Given the description of an element on the screen output the (x, y) to click on. 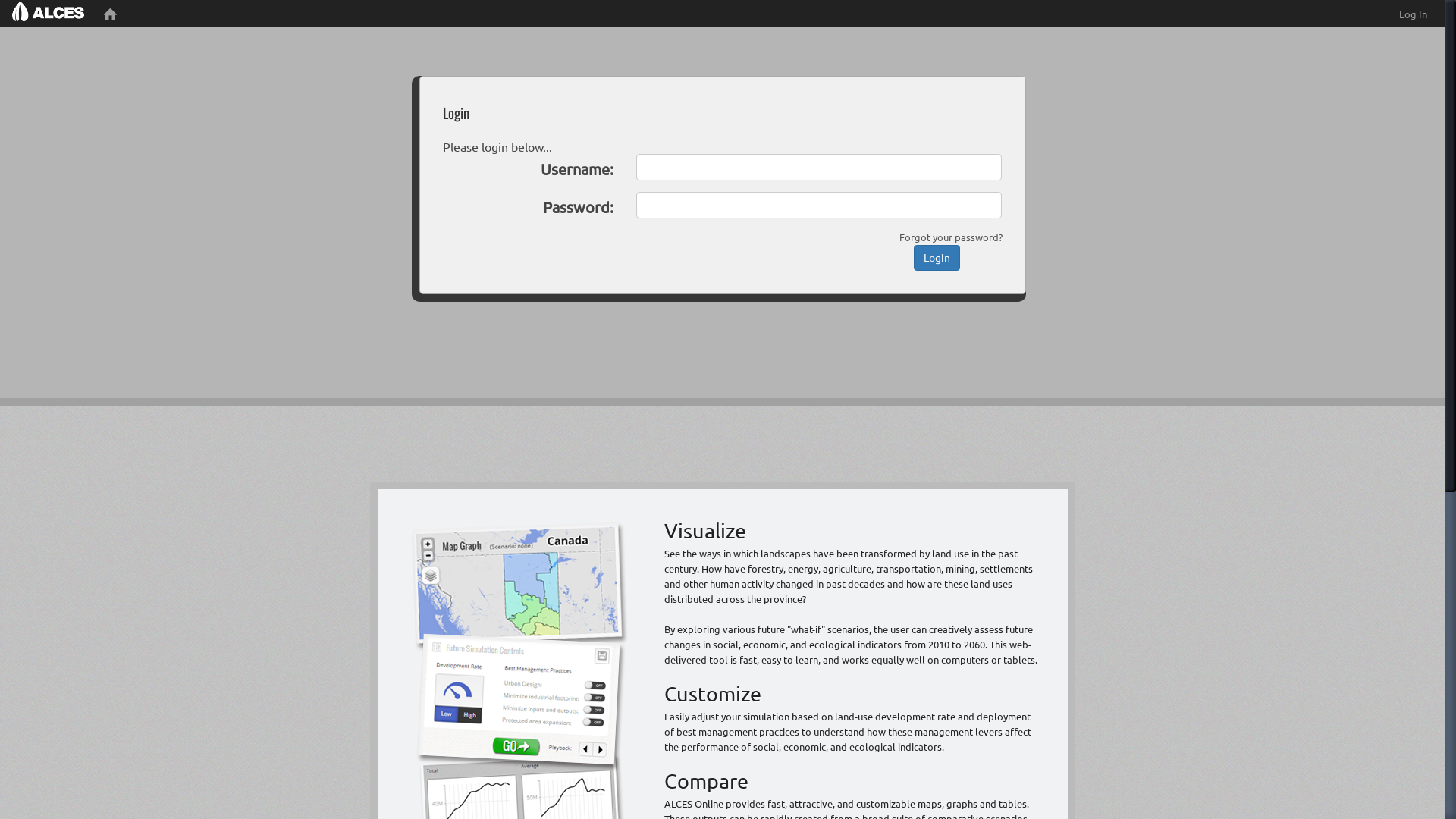
Log In Element type: text (1413, 13)
Login Element type: text (936, 257)
ALCES Online Element type: hover (48, 13)
Forgot your password? Element type: text (950, 236)
Home Element type: hover (110, 13)
